Given the description of an element on the screen output the (x, y) to click on. 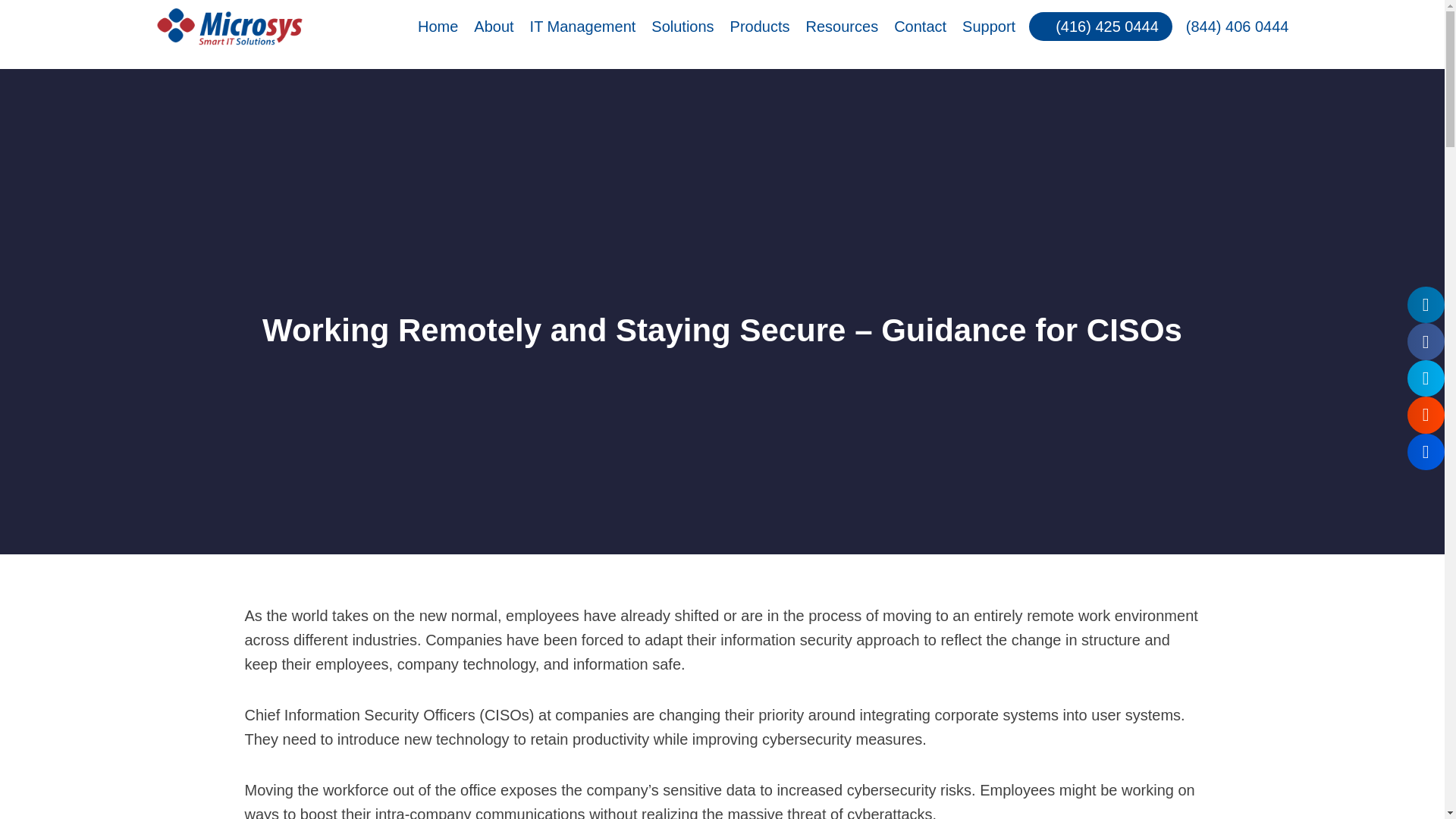
IT Management (583, 26)
Solutions (682, 26)
About (493, 26)
Home (437, 26)
